Given the description of an element on the screen output the (x, y) to click on. 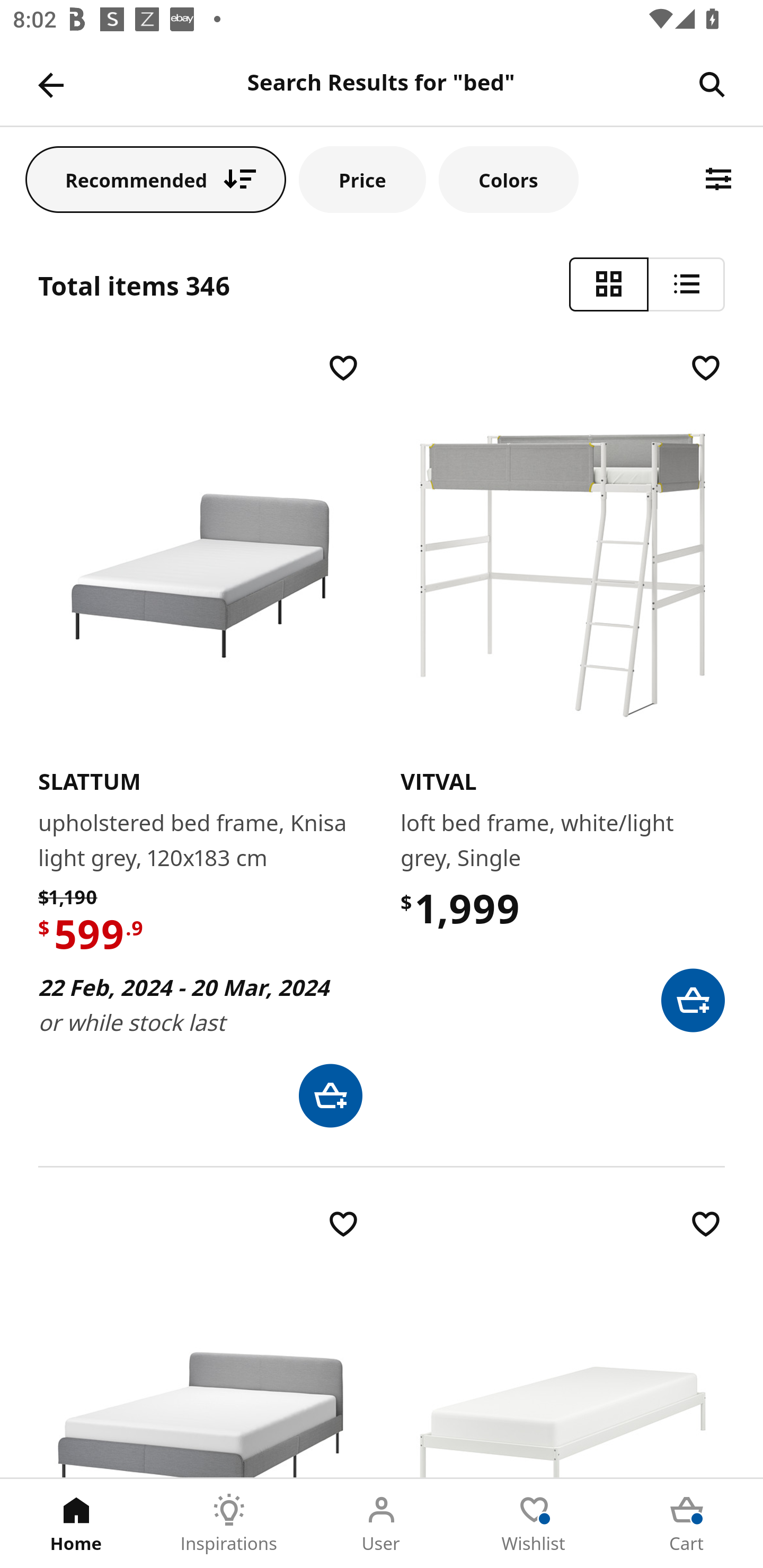
Recommended (155, 179)
Price (362, 179)
Colors (508, 179)
Home
Tab 1 of 5 (76, 1522)
Inspirations
Tab 2 of 5 (228, 1522)
User
Tab 3 of 5 (381, 1522)
Wishlist
Tab 4 of 5 (533, 1522)
Cart
Tab 5 of 5 (686, 1522)
